Given the description of an element on the screen output the (x, y) to click on. 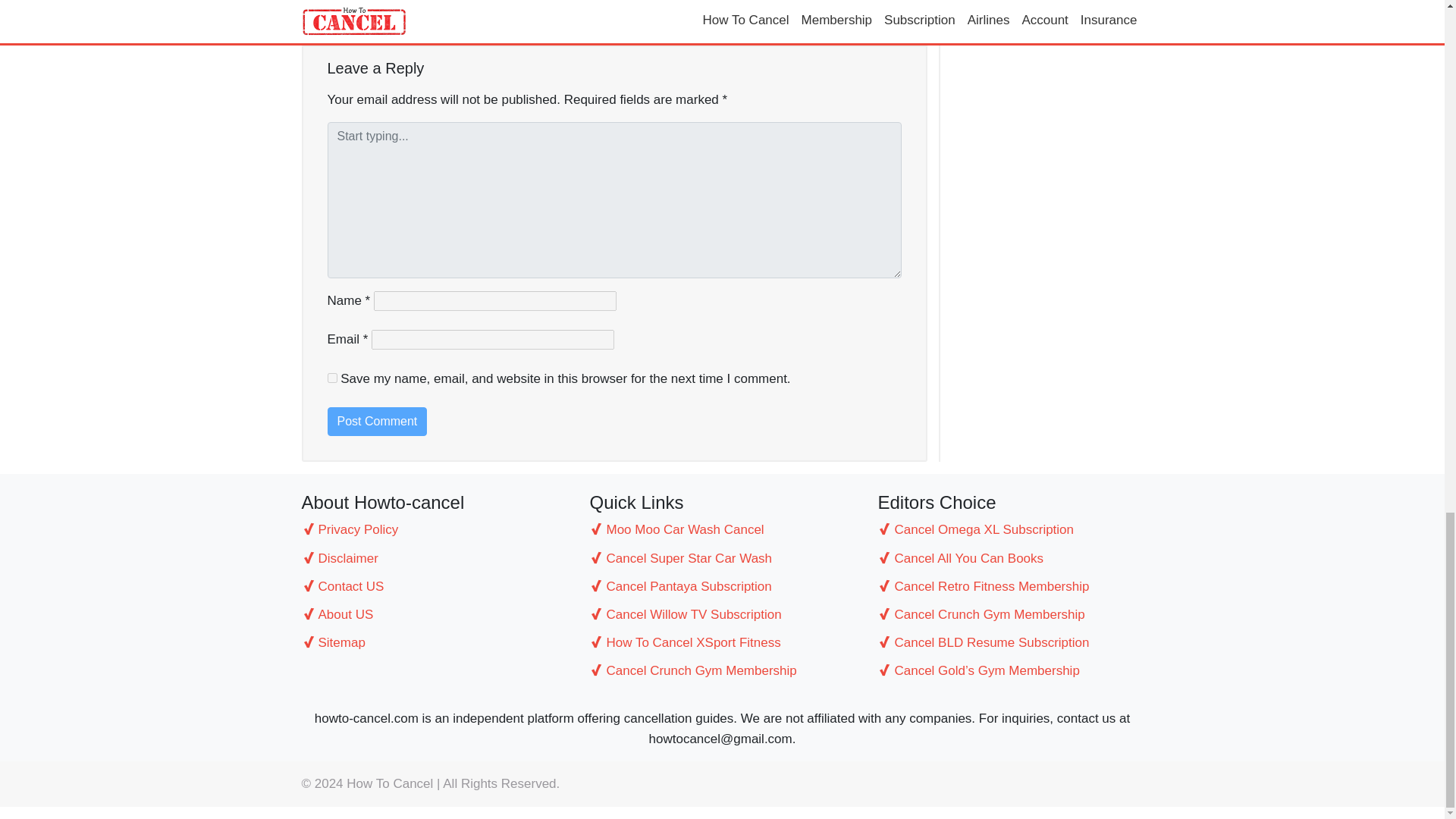
Cancel Crunch Gym Membership (721, 670)
Cancel Retro Fitness Membership (1009, 586)
Cancel All You Can Books (1009, 557)
Post Comment (377, 421)
Cancel Glassdoor Account: (829, 12)
About US (434, 614)
Cancel Willow TV Subscription (721, 614)
Cancel Super Star Car Wash (721, 557)
How To Cancel XSport Fitness (721, 642)
Disclaimer (434, 557)
Cancel Pantaya Subscription (721, 586)
How to cancel Linkedin Premium? (416, 12)
Contact US (434, 586)
Sitemap (434, 642)
Moo Moo Car Wash Cancel (721, 529)
